Given the description of an element on the screen output the (x, y) to click on. 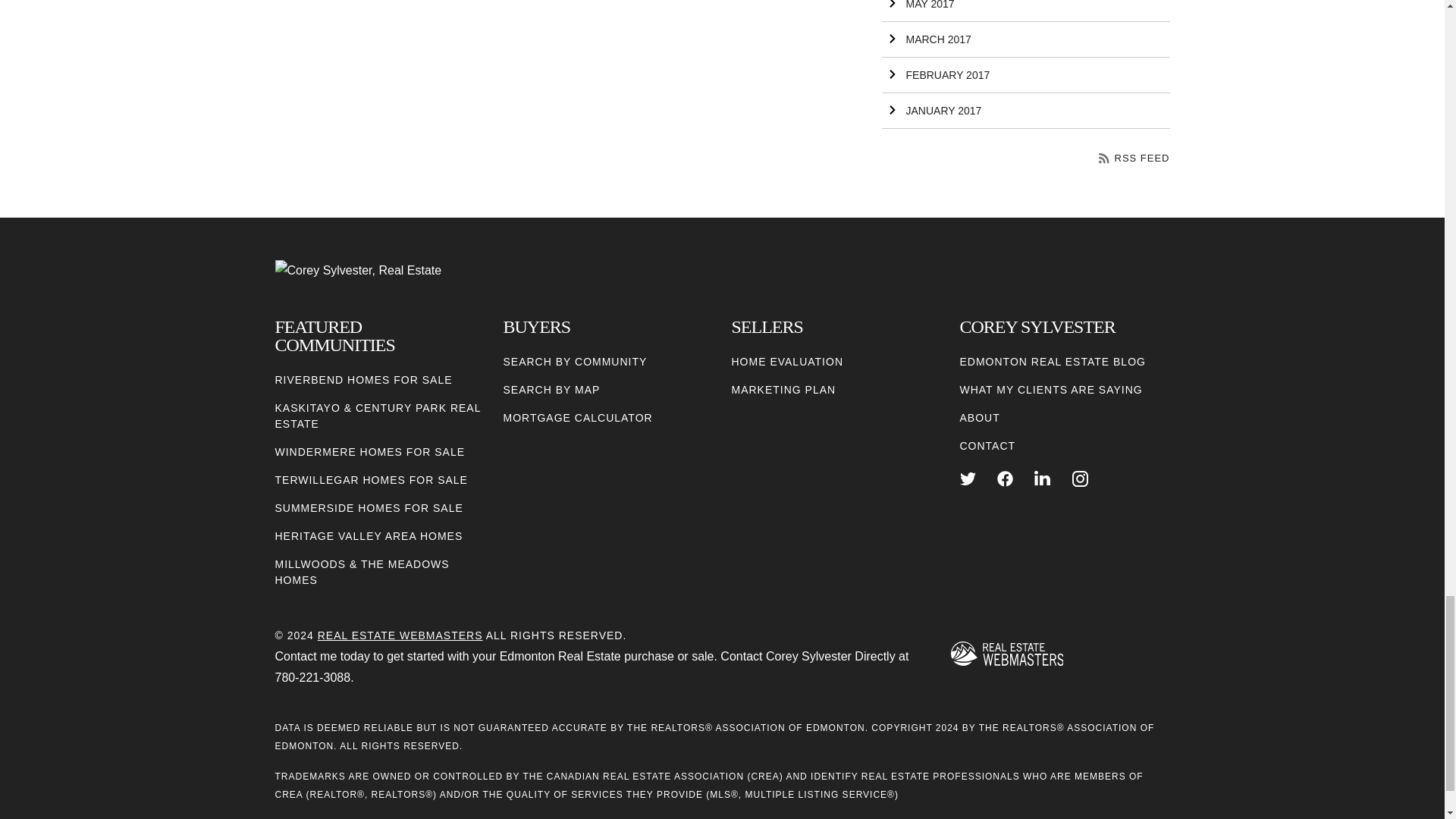
RSS FEED (1134, 157)
